Given the description of an element on the screen output the (x, y) to click on. 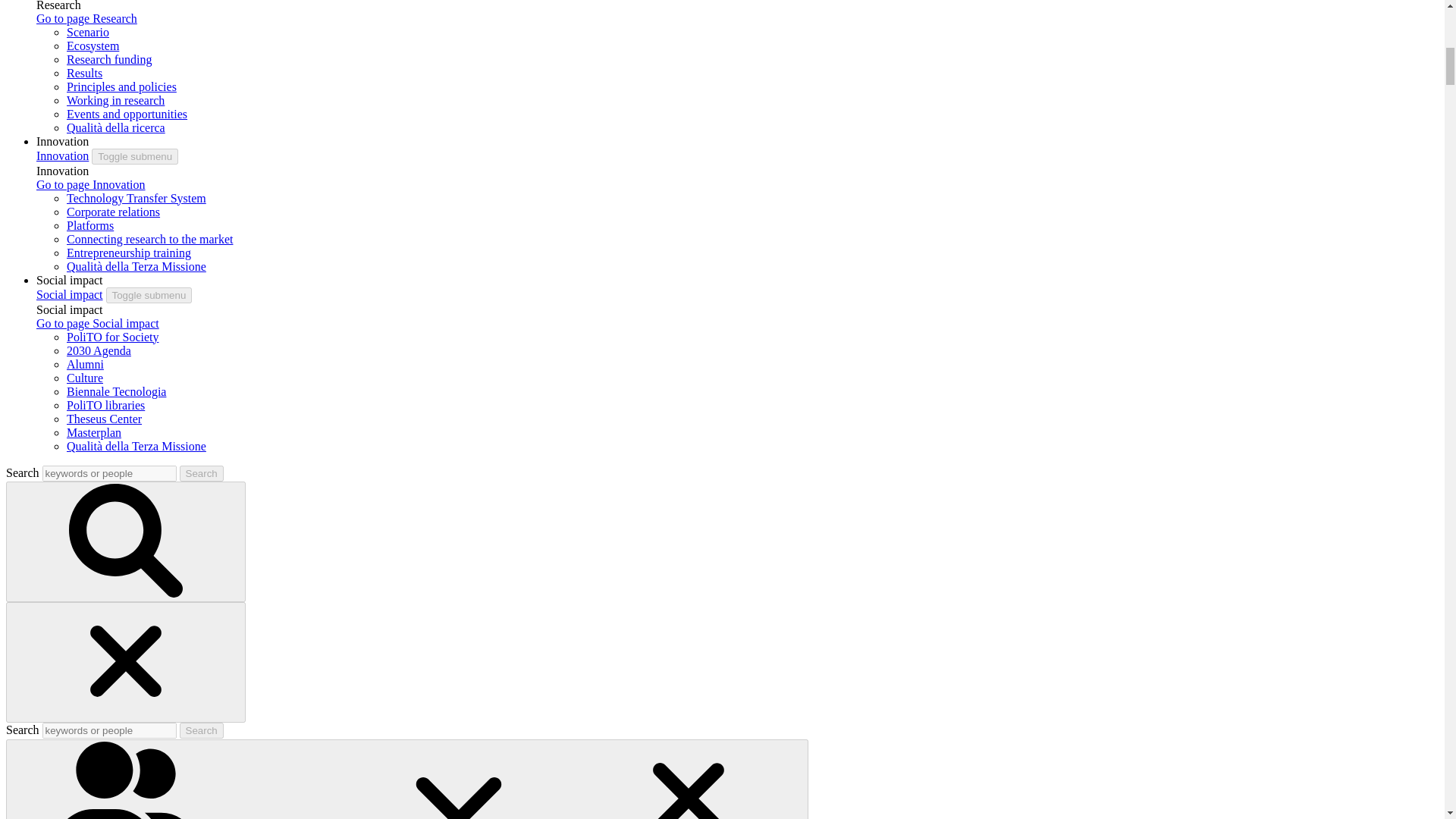
Ecosystem (92, 45)
Search (201, 473)
Scenario (87, 31)
Search (201, 730)
Go to page Research (86, 18)
Research funding (108, 59)
